Given the description of an element on the screen output the (x, y) to click on. 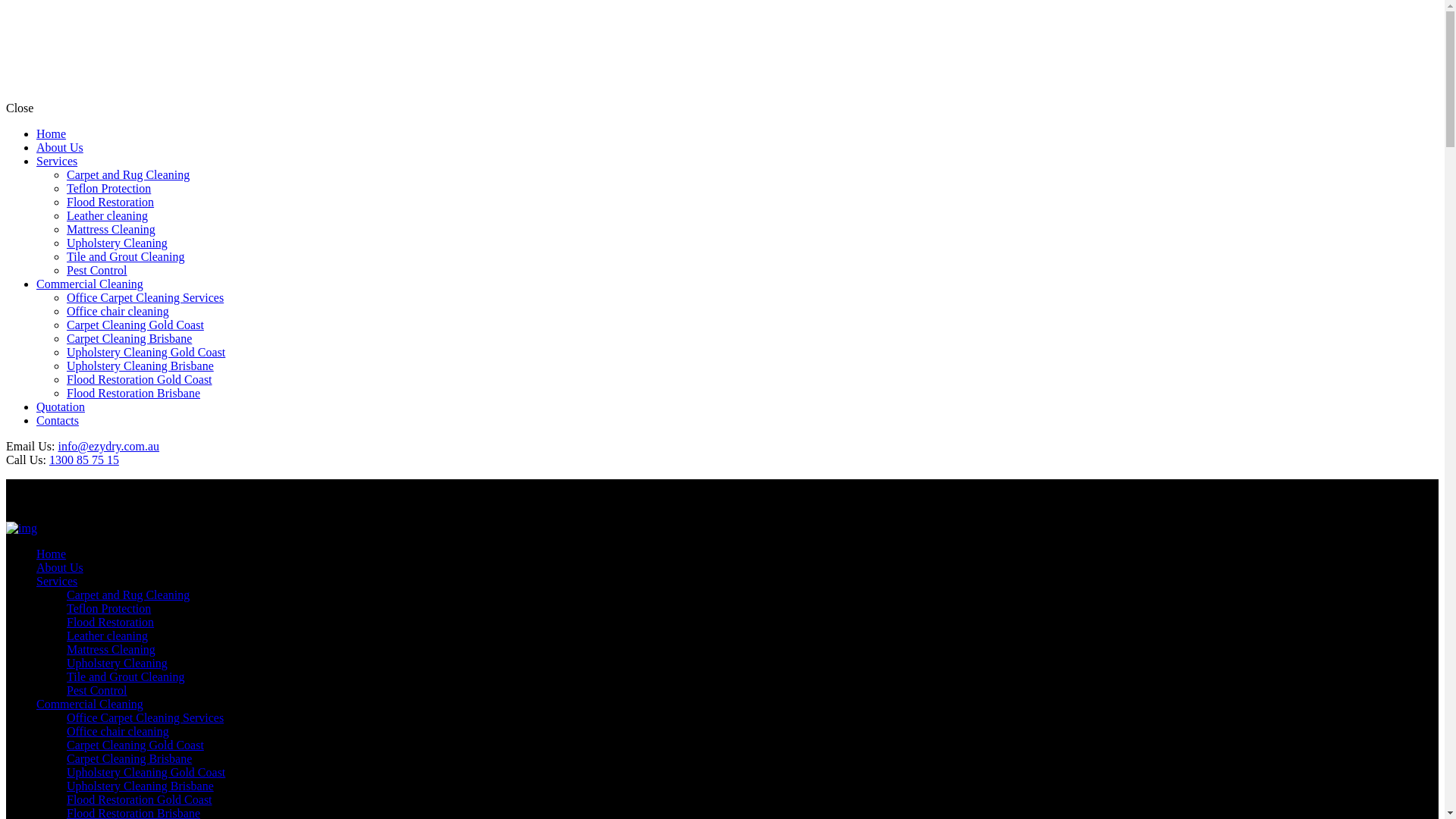
1300 85 75 15 Element type: text (84, 459)
Flood Restoration Gold Coast Element type: text (139, 799)
Carpet and Rug Cleaning Element type: text (127, 594)
Tile and Grout Cleaning Element type: text (125, 676)
About Us Element type: text (59, 567)
Teflon Protection Element type: text (108, 608)
Upholstery Cleaning Brisbane Element type: text (139, 785)
Upholstery Cleaning Element type: text (116, 662)
Mattress Cleaning Element type: text (110, 649)
Carpet Cleaning Brisbane Element type: text (128, 758)
Leather cleaning Element type: text (106, 635)
Office chair cleaning Element type: text (117, 730)
Services Element type: text (56, 580)
Upholstery Cleaning Gold Coast Element type: text (145, 771)
Pest Control Element type: text (96, 690)
Commercial Cleaning Element type: text (89, 703)
Home Element type: text (50, 553)
Flood Restoration Element type: text (109, 621)
info@ezydry.com.au Element type: text (108, 445)
Office Carpet Cleaning Services Element type: text (144, 717)
Carpet Cleaning Gold Coast Element type: text (134, 744)
